Given the description of an element on the screen output the (x, y) to click on. 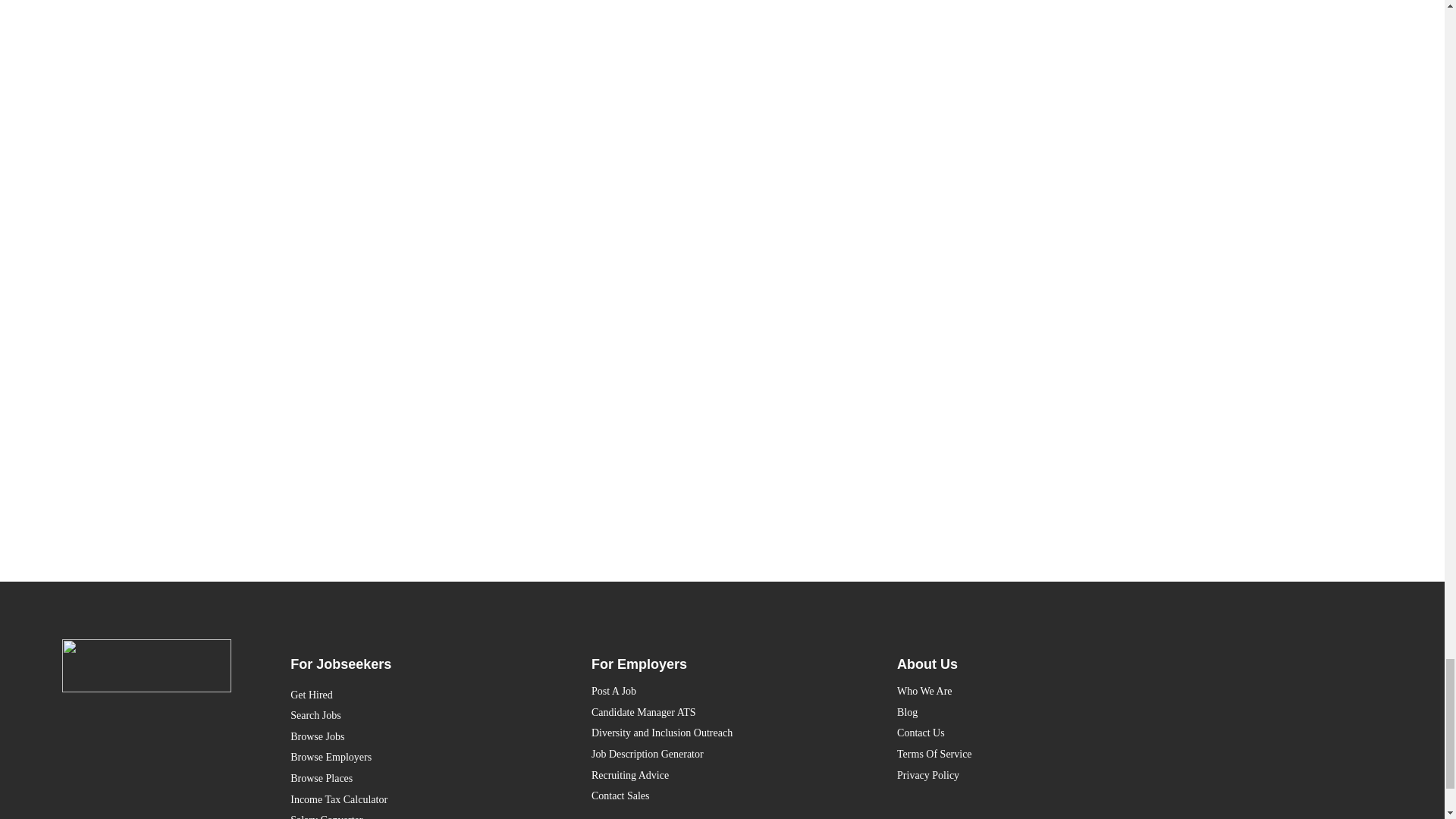
Get Hired (410, 694)
Browse Employers (410, 757)
Browse Jobs (410, 736)
Browse Places (410, 778)
Income Tax Calculator (410, 799)
Search Jobs (410, 715)
Salary Converter (410, 814)
